Given the description of an element on the screen output the (x, y) to click on. 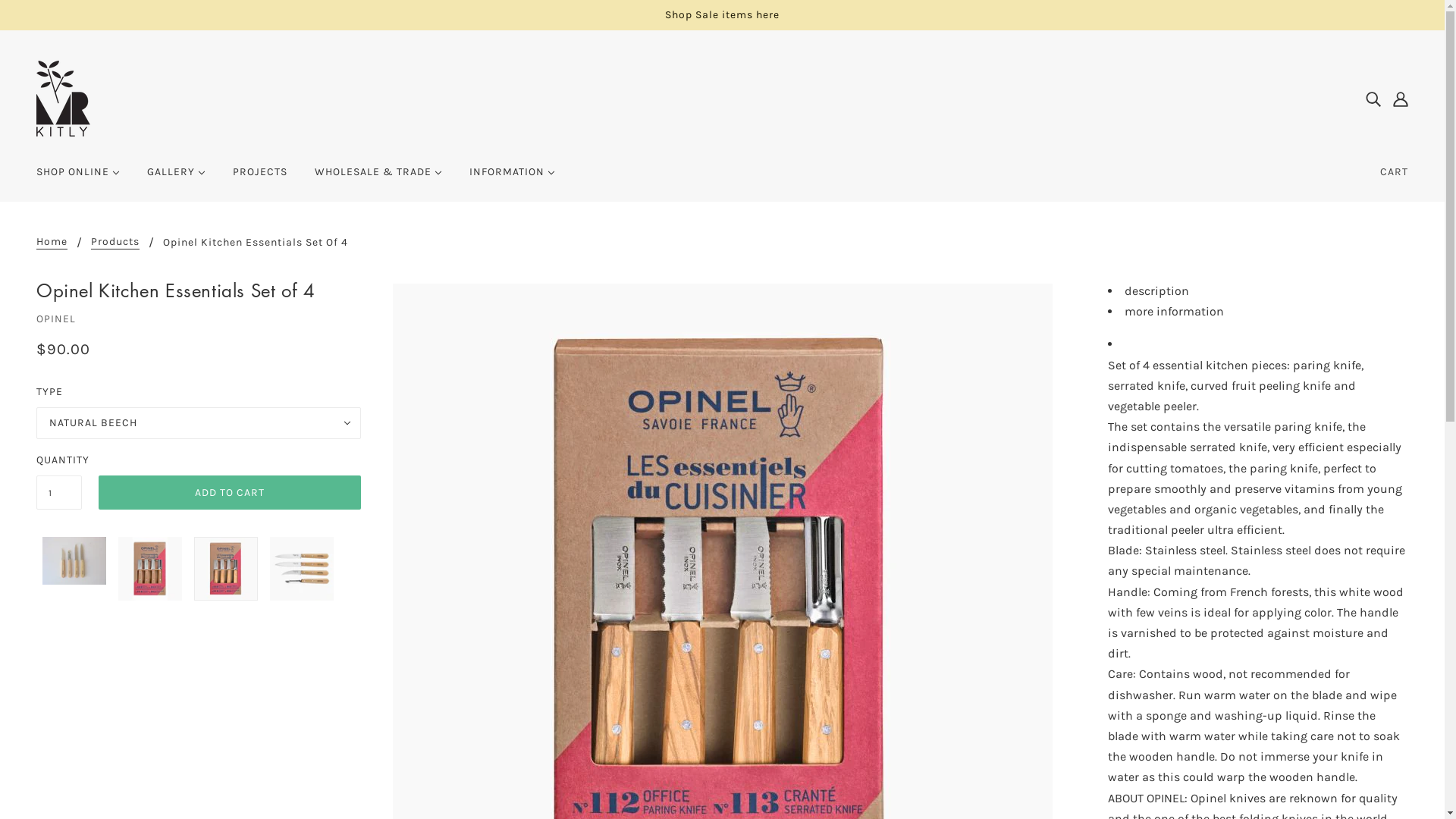
Mr Kitly Element type: hover (63, 97)
CART Element type: text (1394, 171)
WHOLESALE & TRADE Element type: text (378, 177)
PROJECTS Element type: text (259, 177)
OPINEL Element type: text (55, 318)
Home Element type: text (51, 242)
INFORMATION Element type: text (512, 177)
SHOP ONLINE Element type: text (77, 177)
GALLERY Element type: text (175, 177)
Products Element type: text (115, 242)
Shop Sale items here Element type: text (722, 15)
ADD TO CART Element type: text (229, 492)
